Given the description of an element on the screen output the (x, y) to click on. 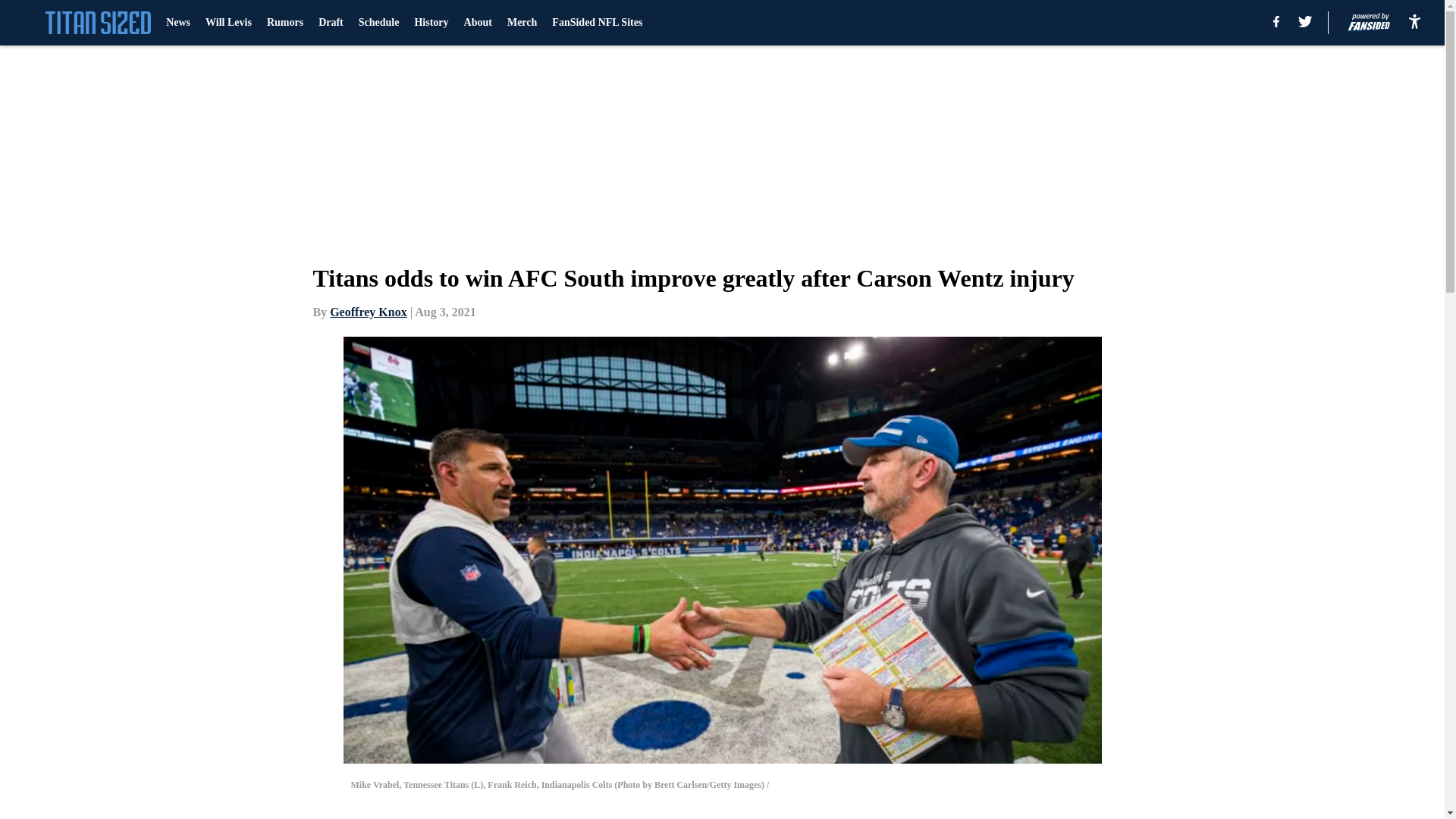
Draft (330, 22)
Schedule (378, 22)
Merch (521, 22)
History (430, 22)
Rumors (284, 22)
FanSided NFL Sites (596, 22)
Geoffrey Knox (368, 311)
News (177, 22)
About (478, 22)
Will Levis (228, 22)
